Given the description of an element on the screen output the (x, y) to click on. 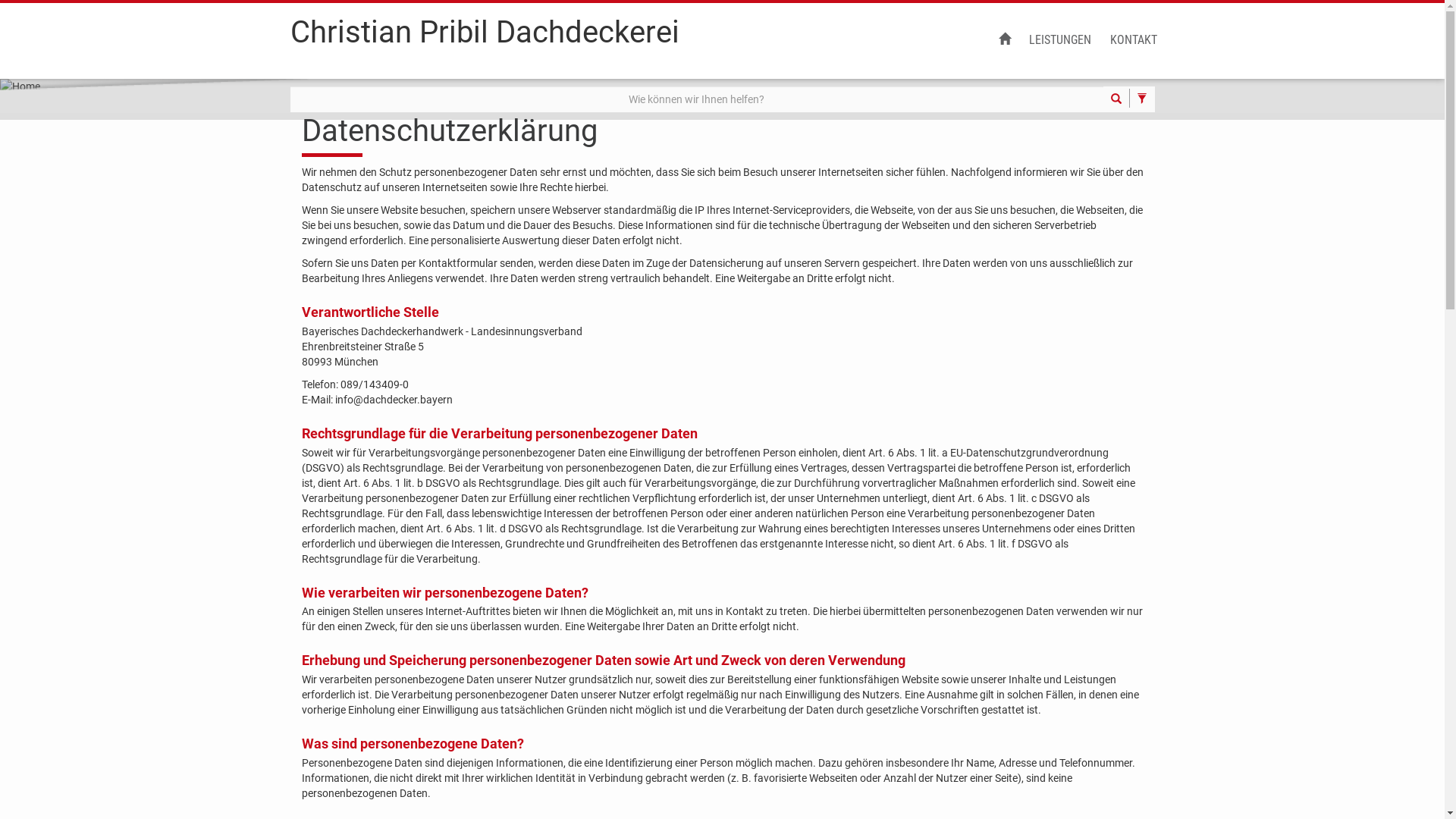
Christian Pribil Dachdeckerei Element type: text (483, 38)
KONTAKT Element type: text (1133, 40)
LEISTUNGEN Element type: text (1059, 40)
